Given the description of an element on the screen output the (x, y) to click on. 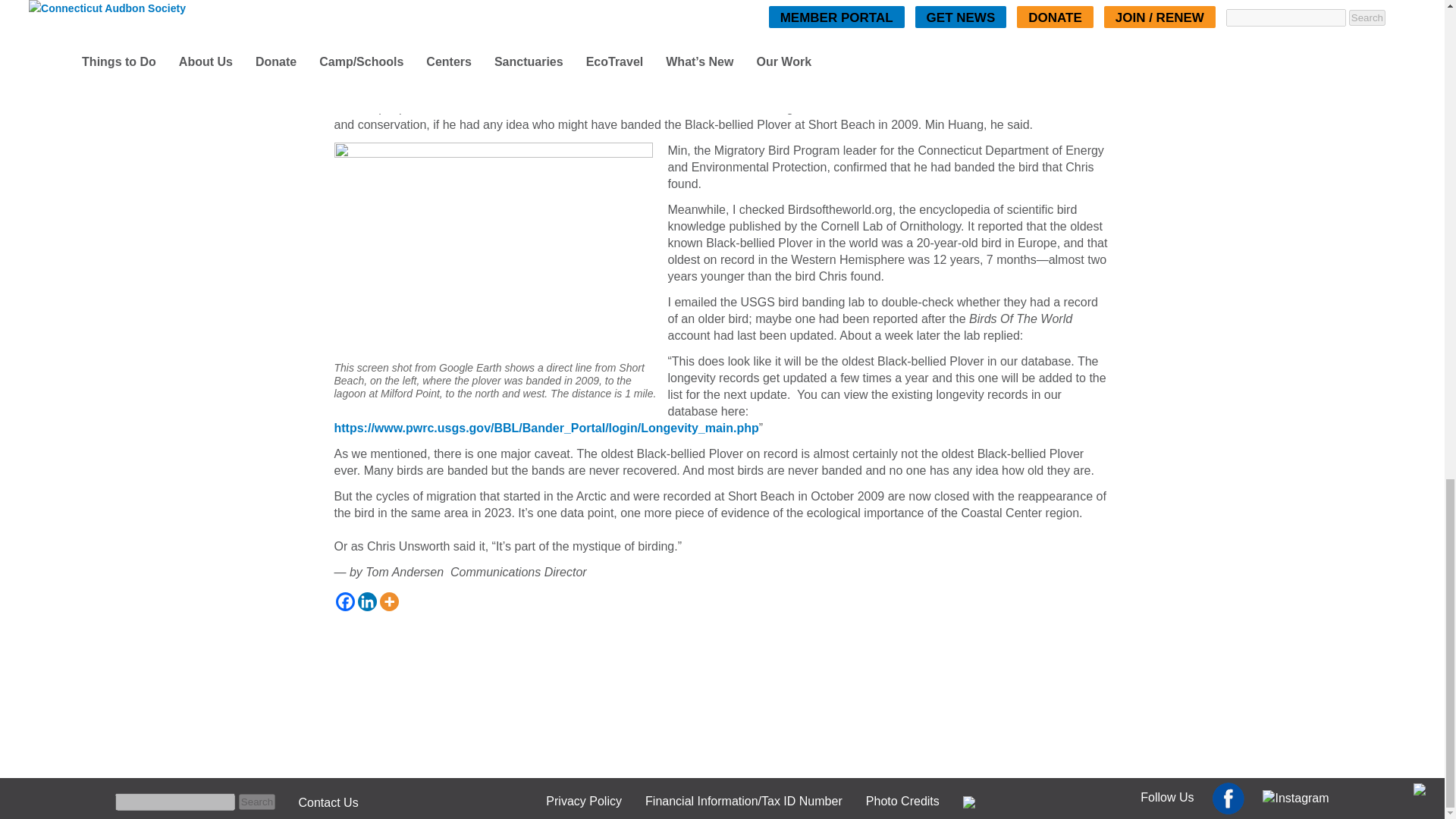
More (387, 601)
Facebook (343, 601)
Linkedin (367, 601)
Search (140, 784)
